Given the description of an element on the screen output the (x, y) to click on. 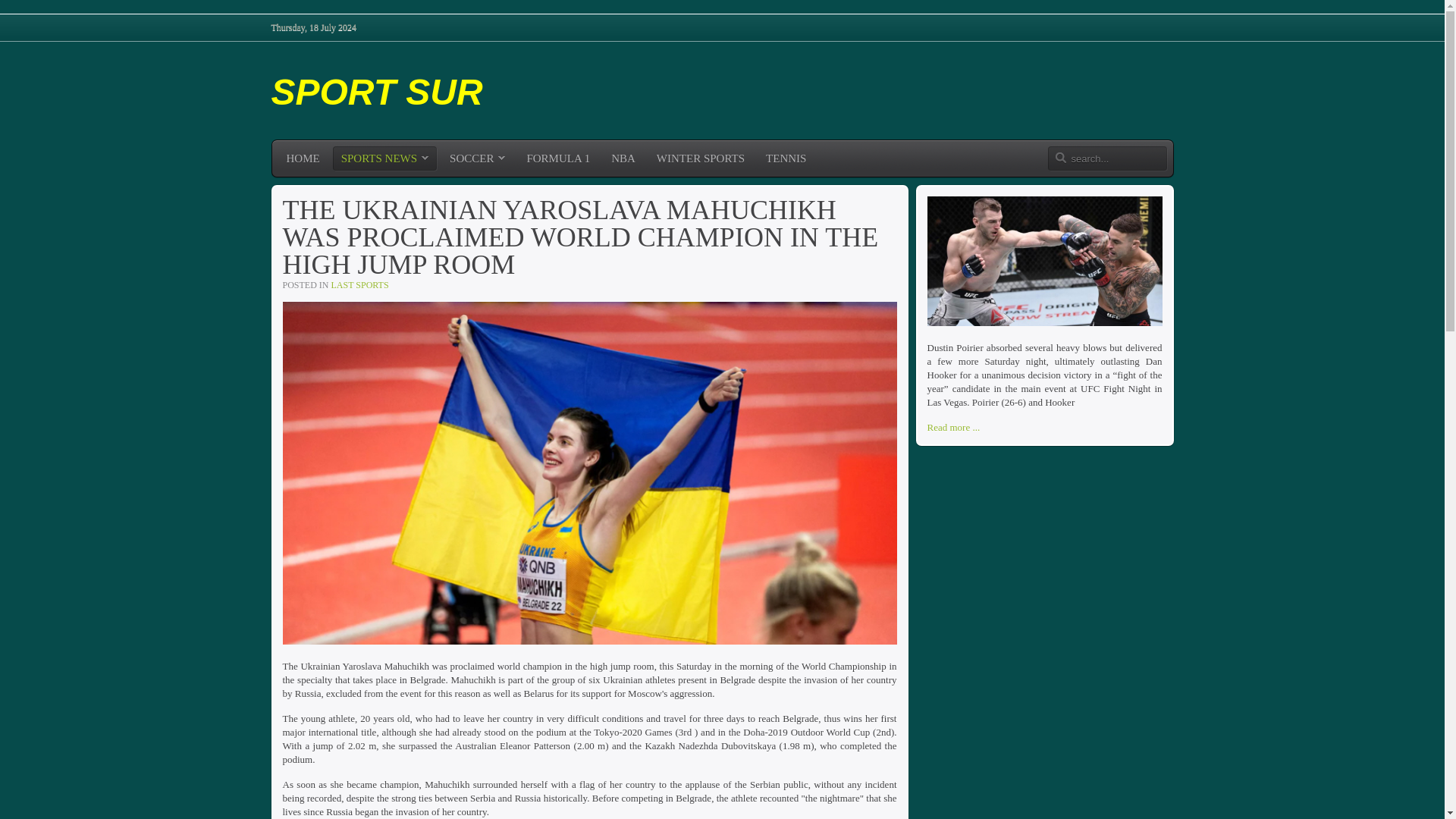
NBA (622, 158)
TENNIS (785, 158)
SOCCER (477, 158)
HOME (302, 158)
Reset (3, 2)
WINTER SPORTS (699, 158)
FORMULA 1 (558, 158)
SPORT SUR (376, 89)
LAST SPORTS (359, 285)
SPORTS NEWS (384, 158)
Read more ... (952, 427)
